Given the description of an element on the screen output the (x, y) to click on. 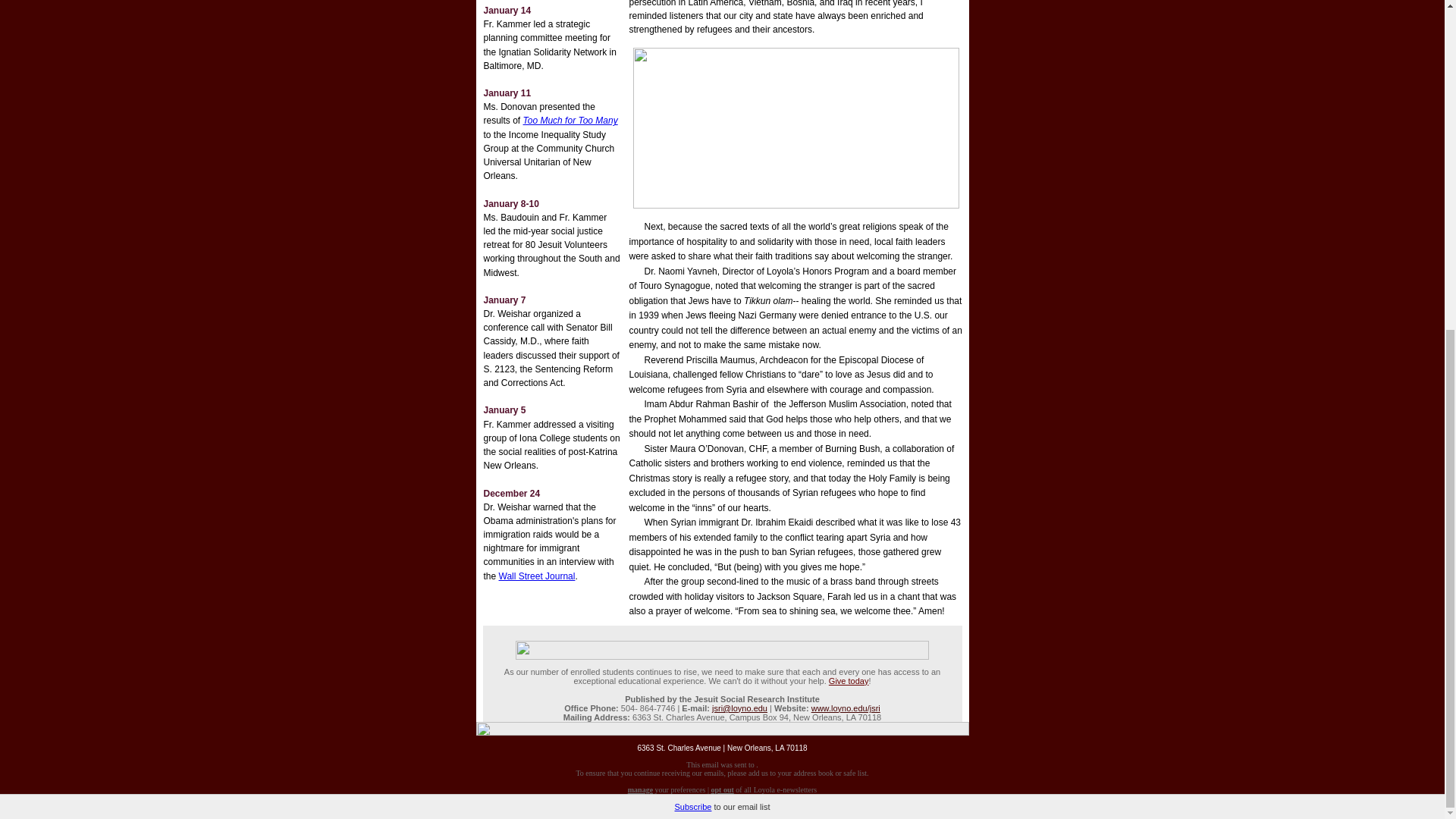
opt out (722, 789)
Subscribe (693, 260)
Give today (848, 680)
Sign up (712, 806)
manage (639, 789)
Too Much for Too Many (569, 120)
Wall Street Journal (537, 575)
